Given the description of an element on the screen output the (x, y) to click on. 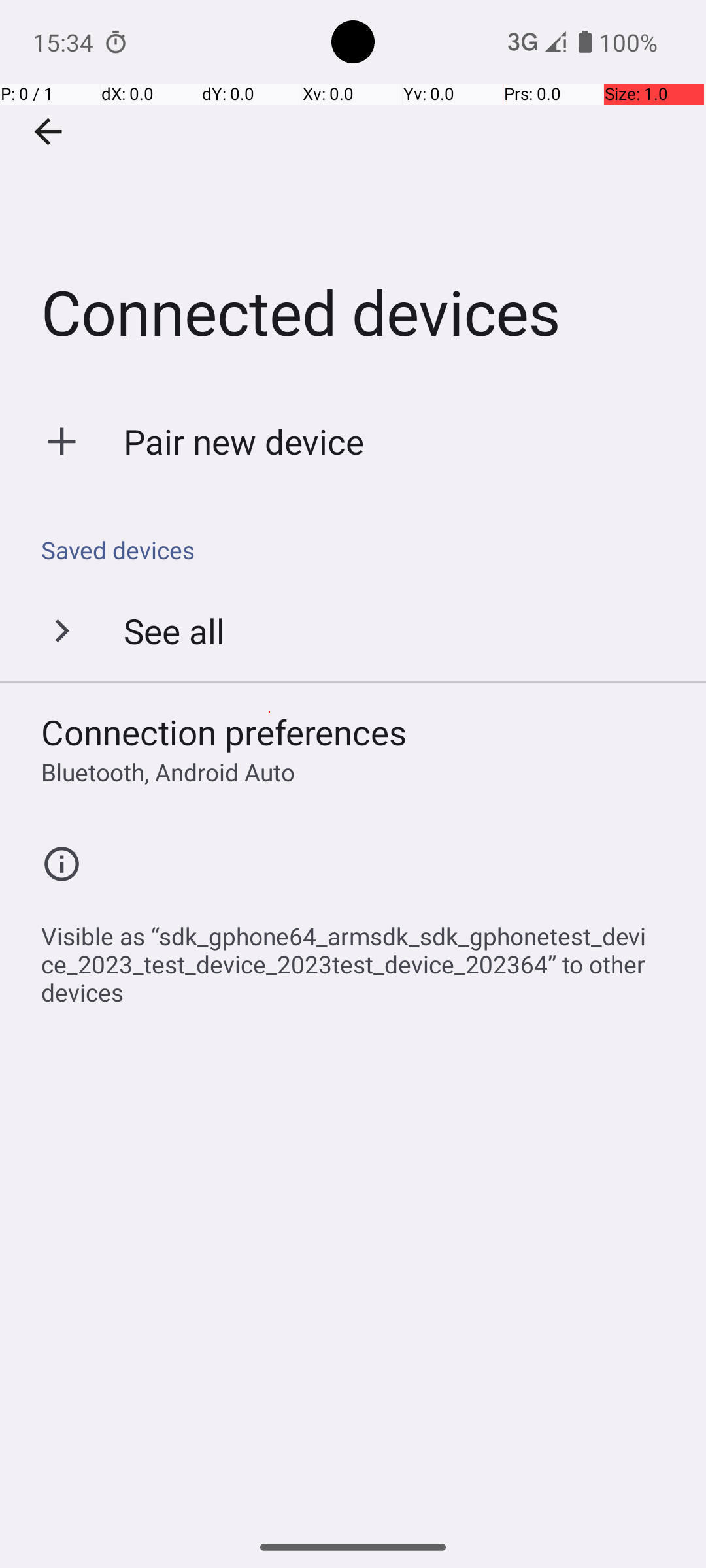
Visible as “sdk_gphone64_armsdk_sdk_gphonetest_device_2023_test_device_2023test_device_202364” to other devices Element type: android.widget.TextView (359, 956)
